Given the description of an element on the screen output the (x, y) to click on. 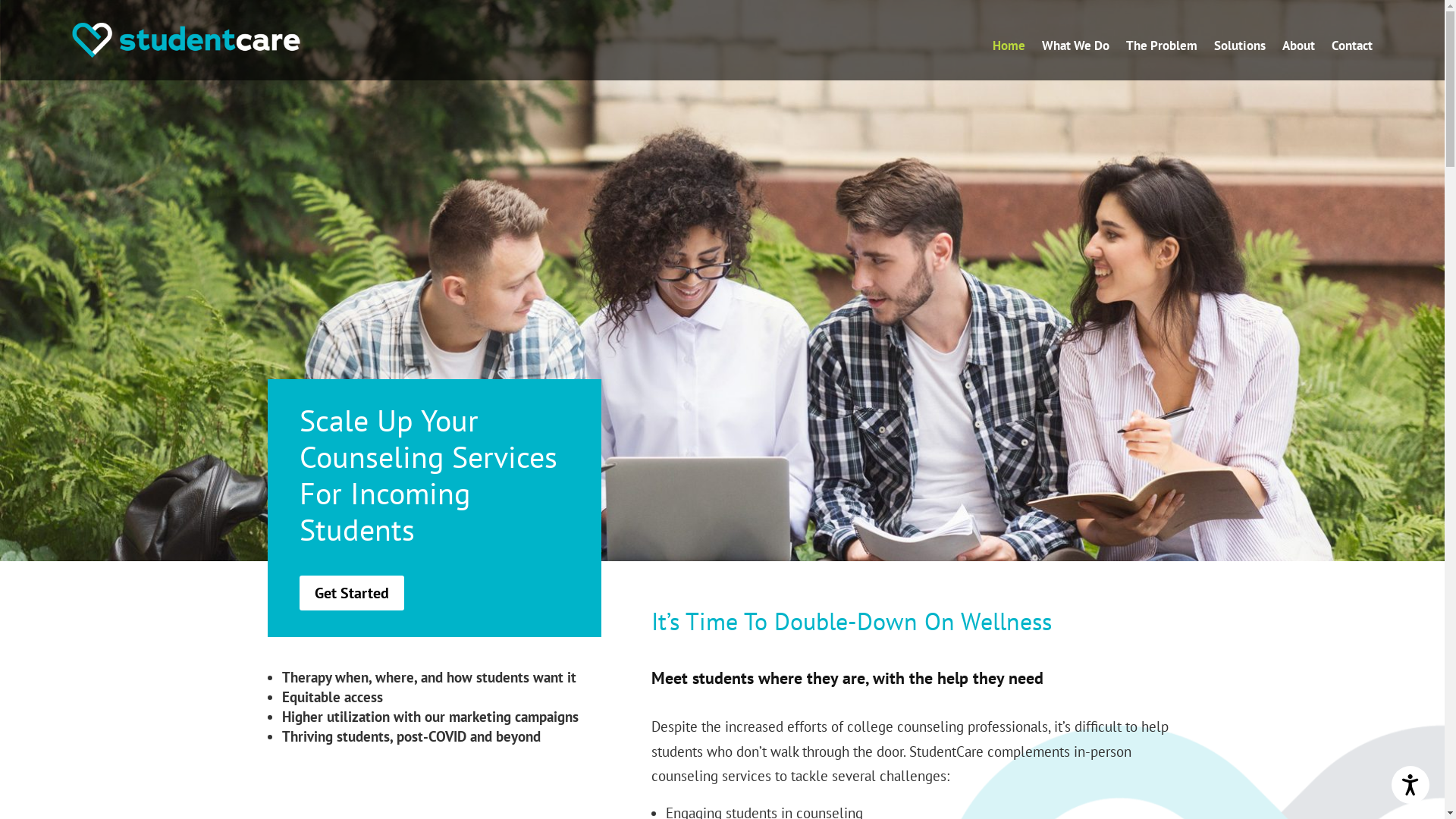
About Element type: text (1298, 48)
Home Element type: text (1008, 48)
Get Started Element type: text (350, 592)
logo Element type: hover (185, 39)
Contact Element type: text (1351, 48)
The Problem Element type: text (1161, 48)
What We Do Element type: text (1075, 48)
Solutions Element type: text (1239, 48)
Open Accessibility Menu Element type: hover (1410, 784)
